Given the description of an element on the screen output the (x, y) to click on. 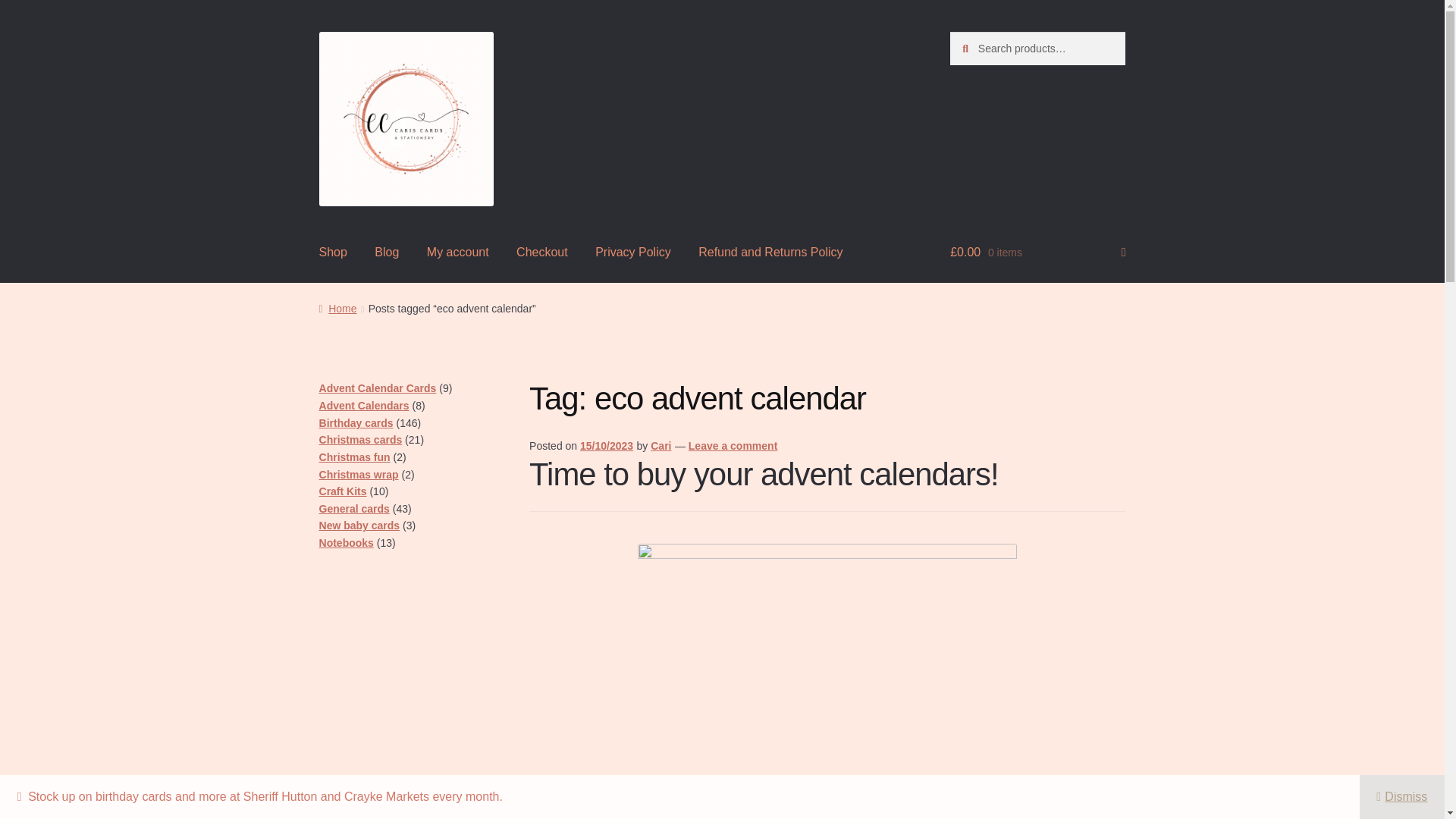
My account (457, 252)
Home (337, 308)
Checkout (541, 252)
Advent Calendar Cards (377, 387)
Leave a comment (732, 445)
Privacy Policy (632, 252)
View your shopping basket (1037, 252)
Christmas fun (354, 457)
